Given the description of an element on the screen output the (x, y) to click on. 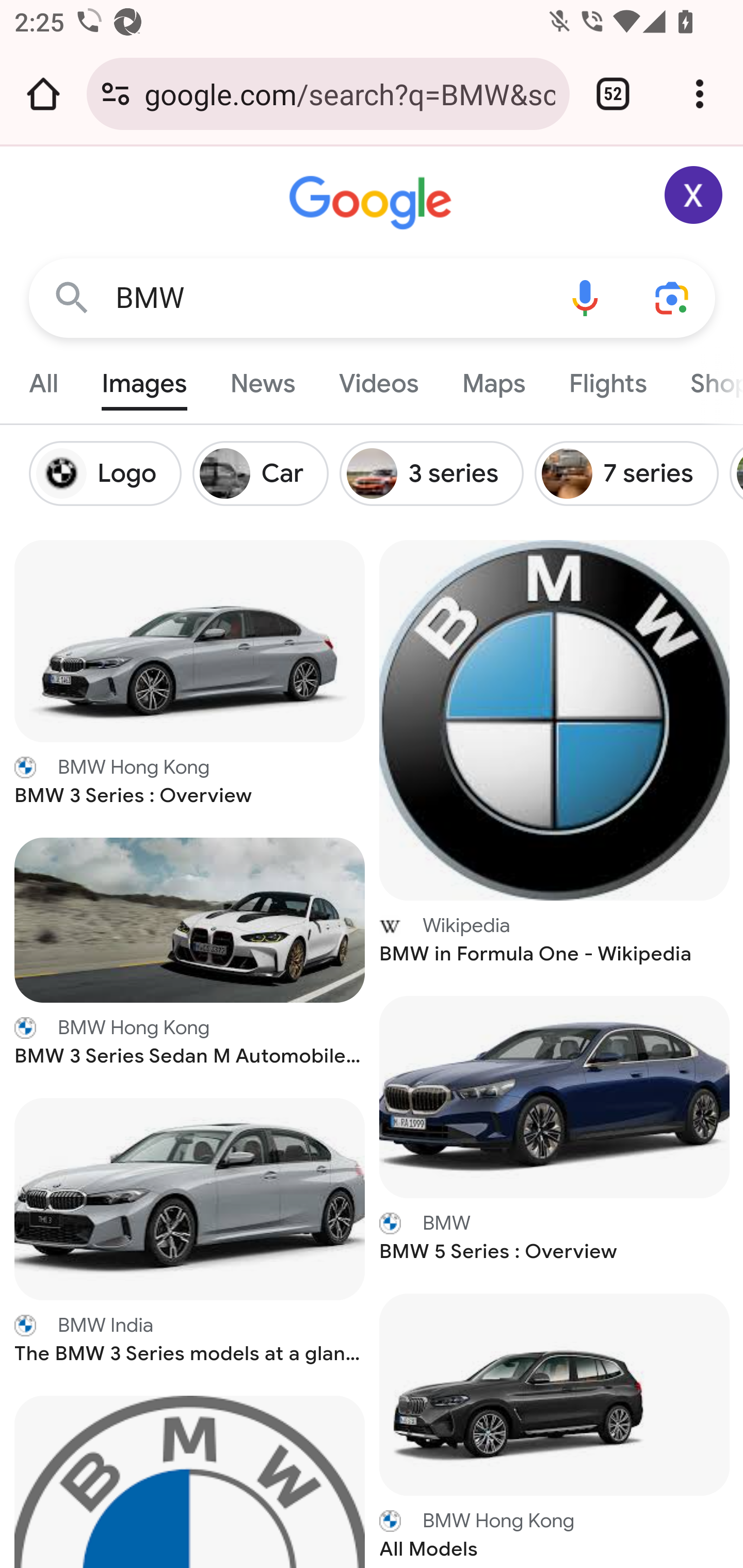
Open the home page (43, 93)
Connection is secure (115, 93)
Switch or close tabs (612, 93)
Customize and control Google Chrome (699, 93)
Google (372, 203)
Google Account: Xiaoran (zxrappiumtest@gmail.com) (694, 195)
Google Search (71, 296)
Search using your camera or photos (672, 296)
BMW (328, 297)
All (43, 378)
News (262, 378)
Videos (378, 378)
Maps (493, 378)
Flights (607, 378)
Shopping (705, 378)
Add Logo Logo (110, 473)
Add Car Car (266, 473)
Add 3 series 3 series (437, 473)
Add 7 series 7 series (632, 473)
BMW 3 Series : Overview (190, 640)
BMW in Formula One - Wikipedia (554, 718)
BMW 5 Series : Overview (554, 1095)
The BMW 3 Series models at a glance | BMW.in (190, 1199)
All Models (554, 1393)
BMW Hong Kong All Models BMW Hong Kong All Models (554, 1536)
